Given the description of an element on the screen output the (x, y) to click on. 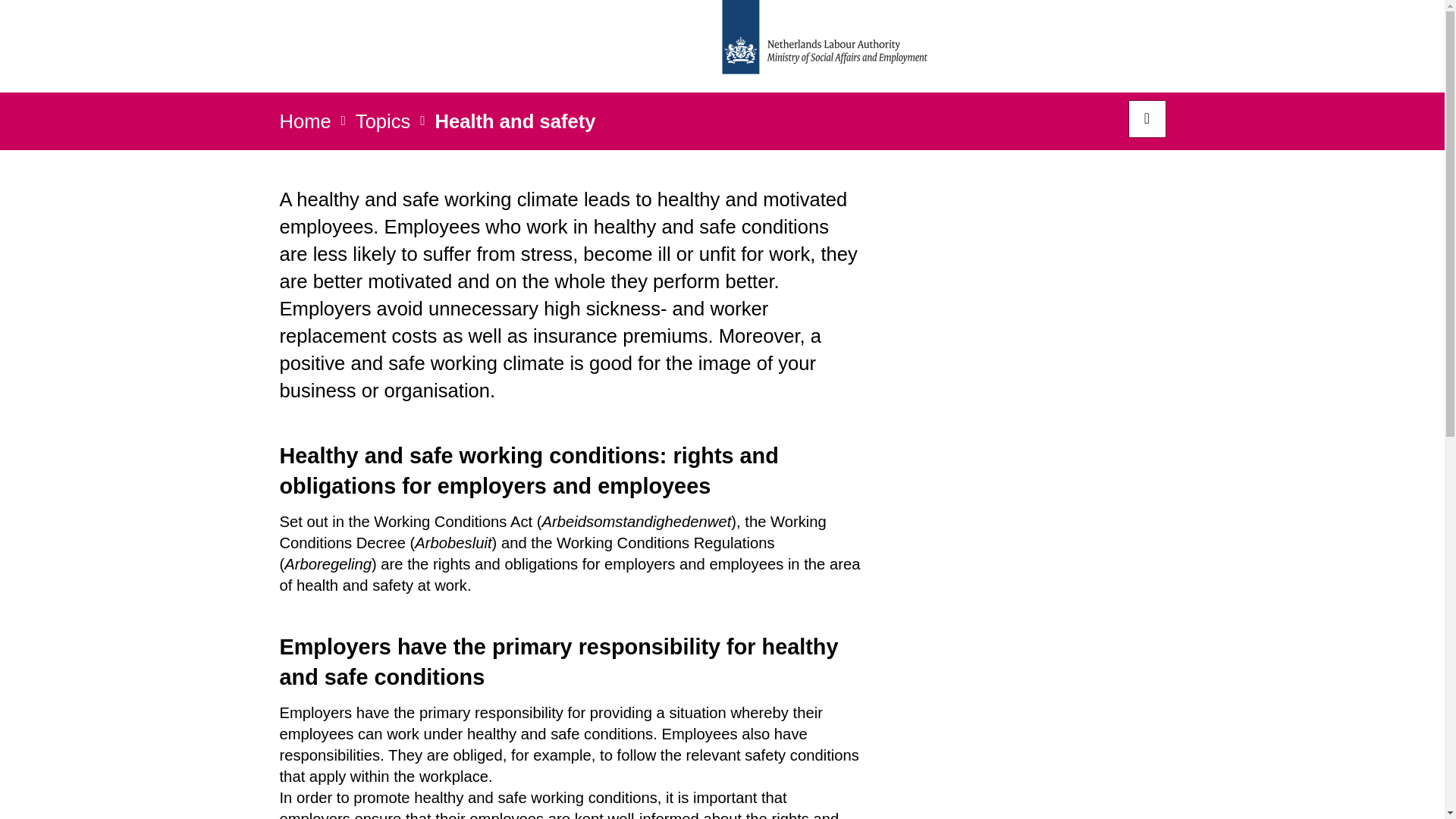
Search (1146, 118)
Topics (382, 125)
Home (304, 125)
Start search (1146, 118)
